Given the description of an element on the screen output the (x, y) to click on. 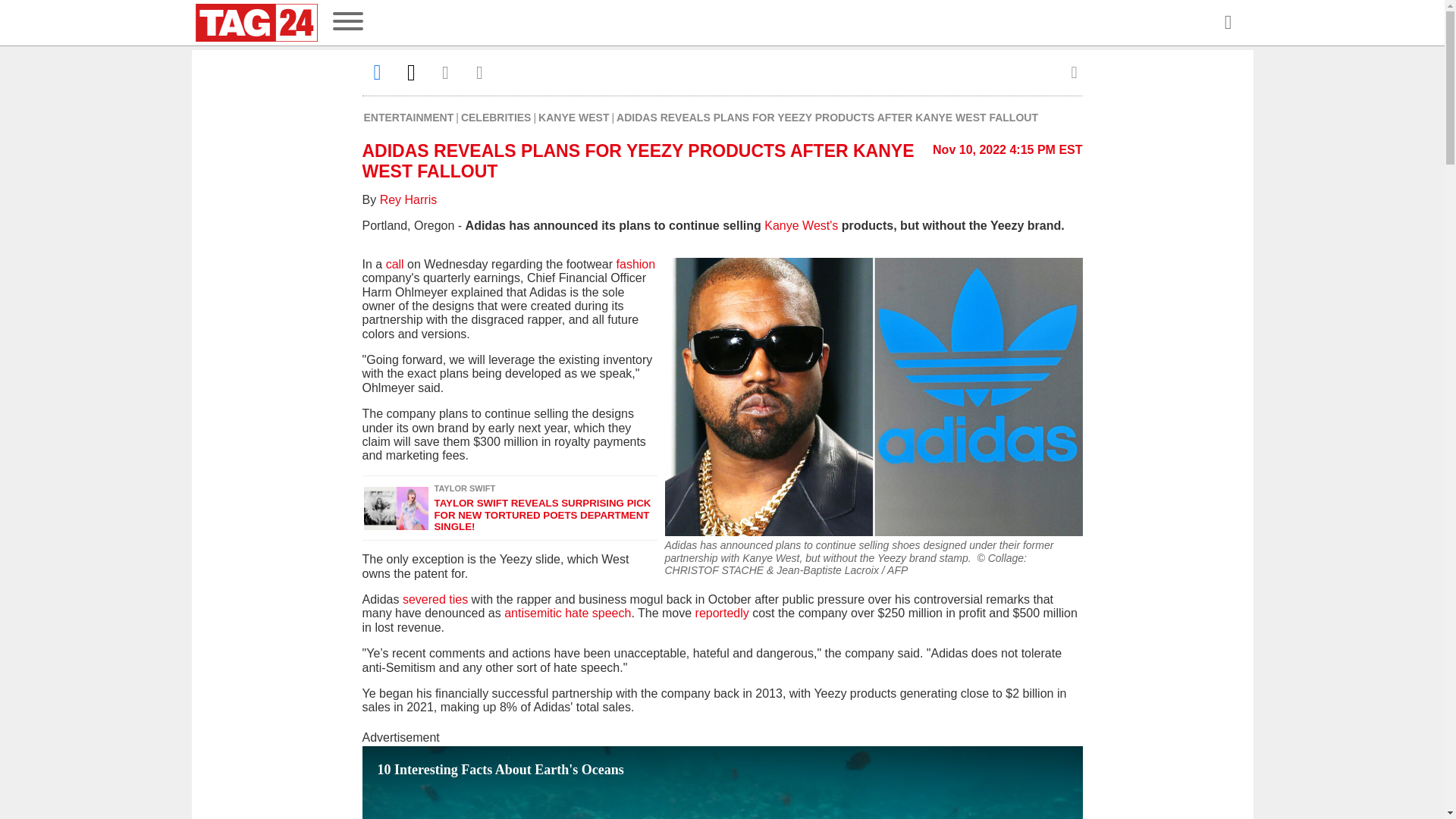
CELEBRITIES (496, 117)
Rey Harris (409, 199)
KANYE WEST (573, 117)
Open search (1227, 22)
Share on Twitter (411, 72)
menu (347, 22)
call (394, 264)
severed ties (435, 599)
Share via mail (445, 72)
Kanye West's (801, 225)
fashion (635, 264)
Share on Facebook (377, 72)
antisemitic hate speech (566, 612)
ENTERTAINMENT (409, 117)
